Given the description of an element on the screen output the (x, y) to click on. 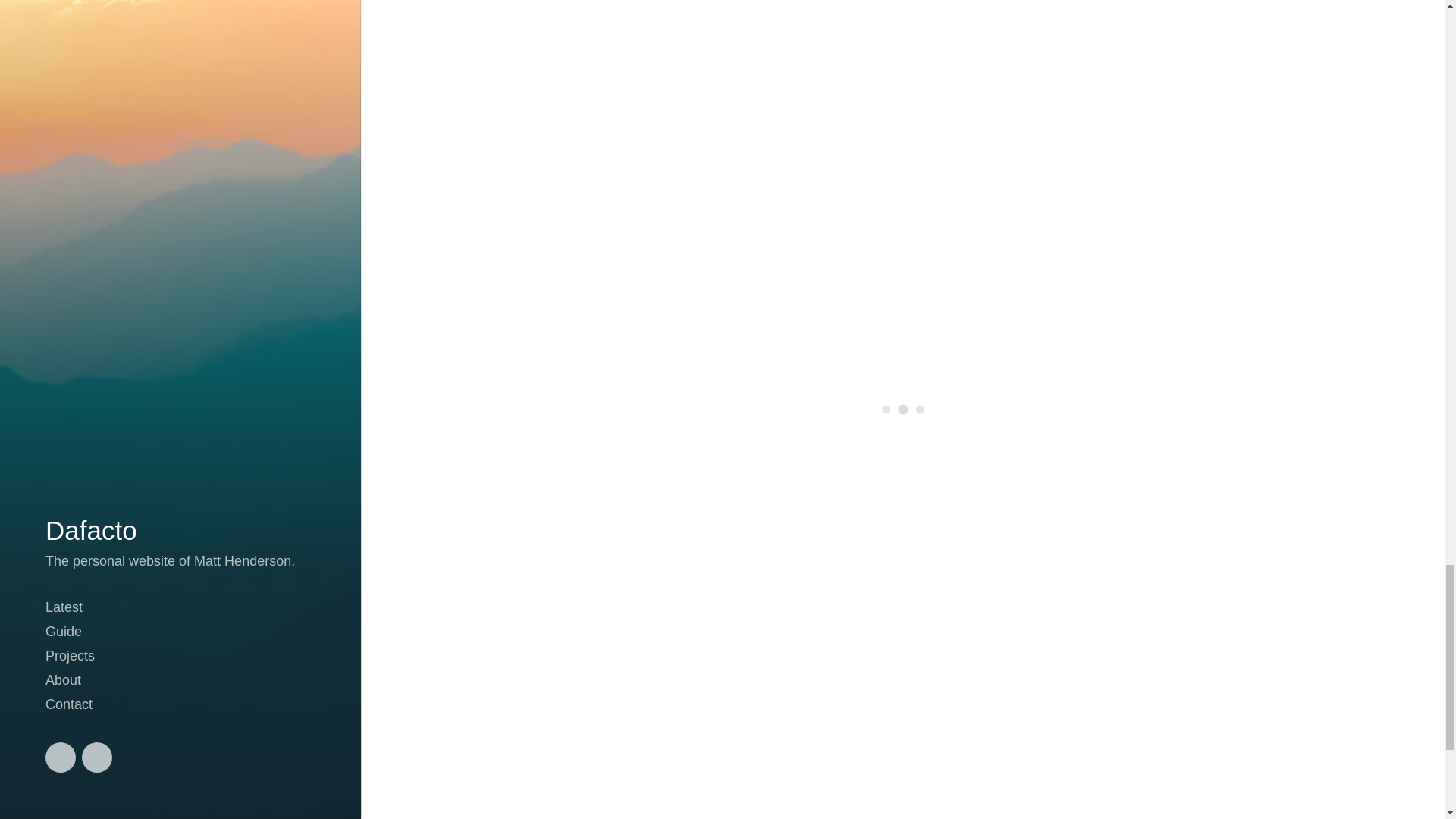
Send Message (632, 794)
